Given the description of an element on the screen output the (x, y) to click on. 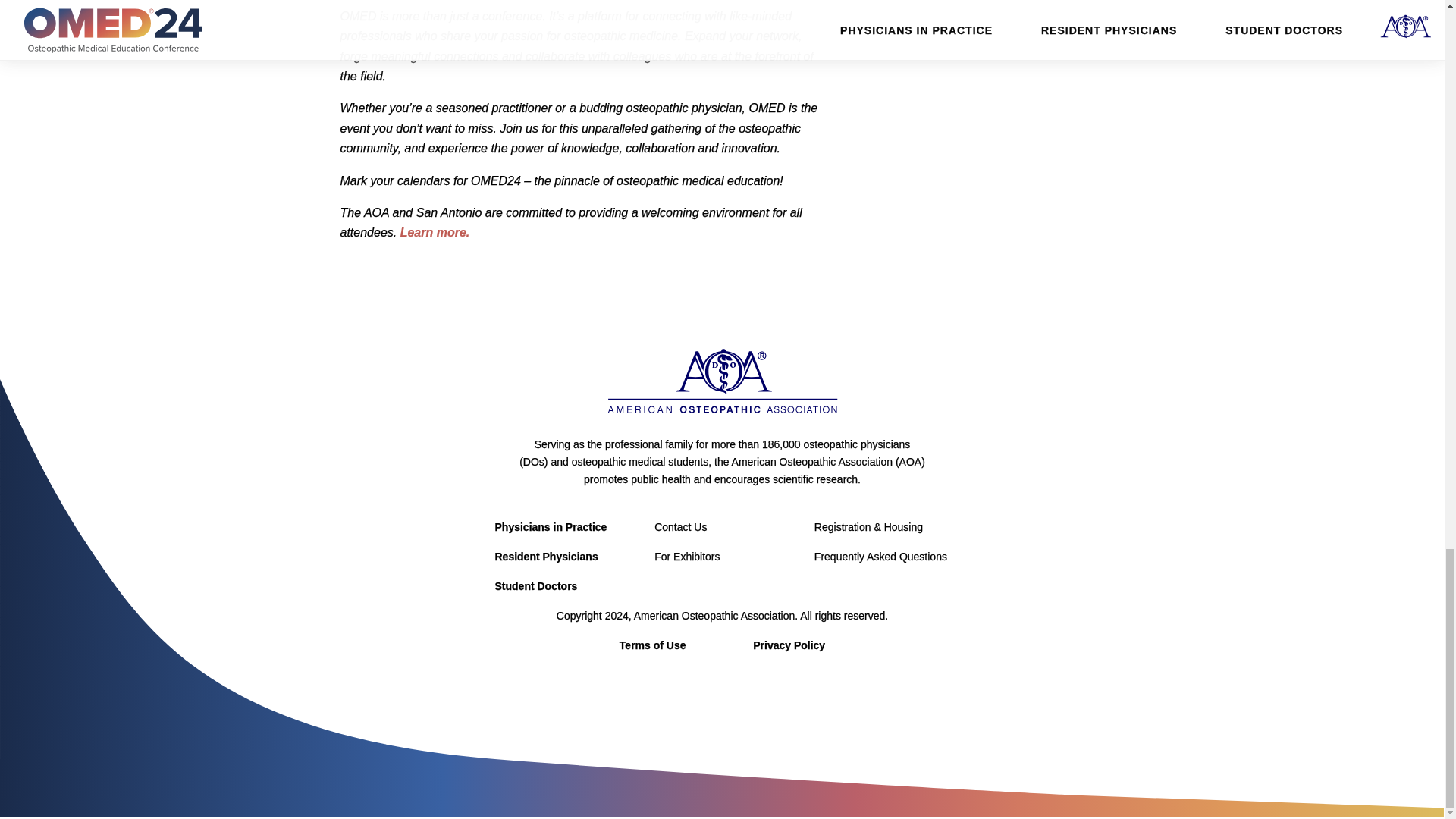
Frequently Asked Questions (880, 556)
Learn more. (435, 232)
Student Doctors (535, 585)
For Exhibitors (686, 556)
Terms of Use (652, 645)
Privacy Policy (788, 645)
Resident Physicians (545, 556)
Contact Us (679, 526)
Physicians in Practice (551, 526)
